Given the description of an element on the screen output the (x, y) to click on. 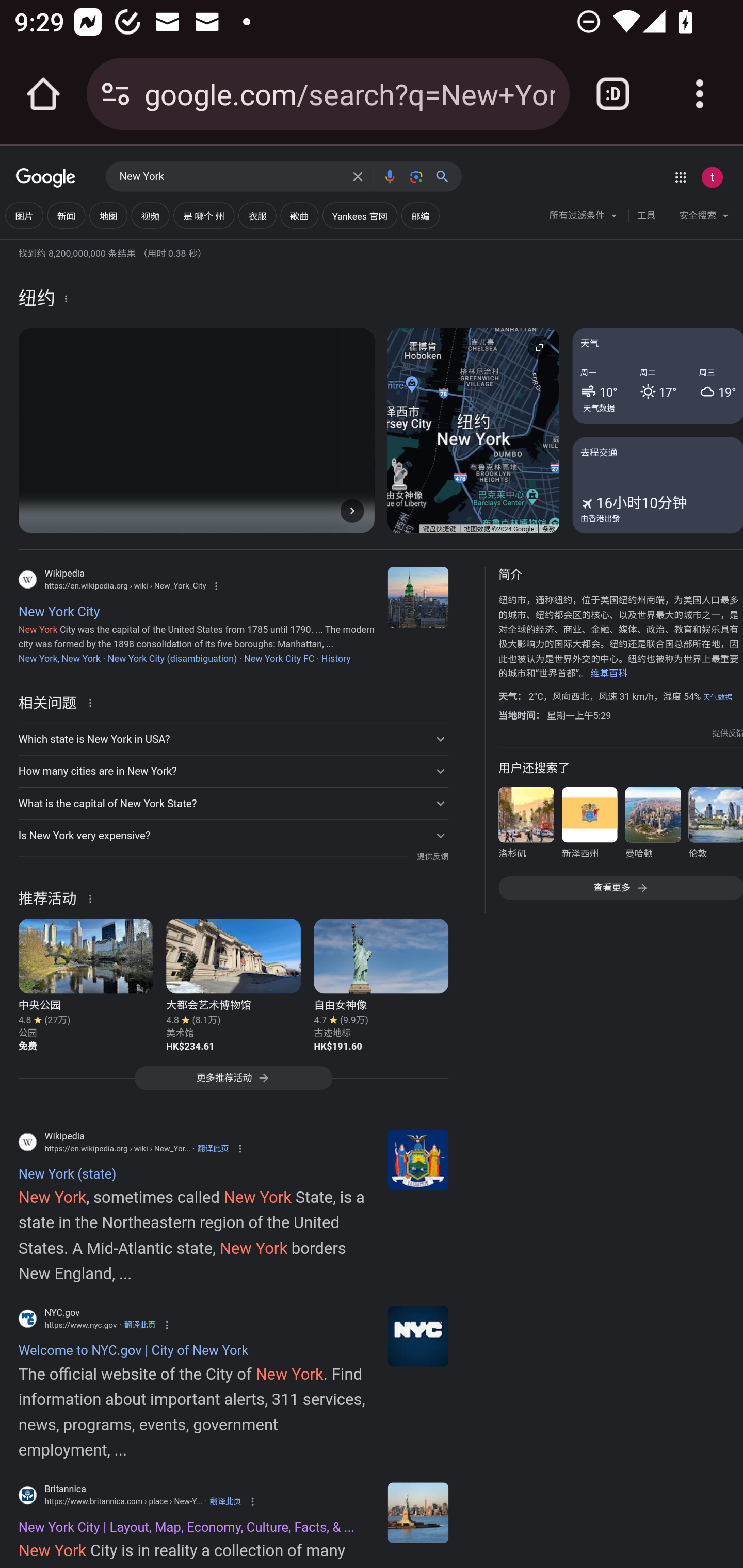
Open the home page (43, 93)
Connection is secure (115, 93)
Switch or close tabs (612, 93)
Customize and control Google Chrome (699, 93)
清除 (357, 176)
按语音搜索 (389, 176)
按图搜索 (415, 176)
搜索 (446, 176)
Google 应用 (680, 176)
Google 账号： test appium (testappium002@gmail.com) (712, 176)
Google (45, 178)
New York (229, 177)
图片 (24, 215)
新闻 (65, 215)
地图 (107, 215)
视频 (149, 215)
添加“是 哪个 州” 是 哪个 州 (203, 215)
添加“衣服” 衣服 (256, 215)
添加“歌曲” 歌曲 (299, 215)
添加“Yankees 官网” Yankees 官网 (359, 215)
添加“邮编” 邮编 (420, 215)
所有过滤条件 (583, 217)
工具 (646, 215)
安全搜索 (703, 217)
更多选项 (65, 298)
天气 周一 高温 10 度 周二 高温 17 度 周三 高温 19 度 (657, 375)
展开地图 (539, 346)
天气数据 (599, 407)
去程交通 16小时10分钟 乘坐飞机 由香港出發 (657, 484)
下一张图片 (352, 510)
New_York_City (417, 597)
New York, New York (58, 658)
New York City (disambiguation) (171, 658)
New York City FC (278, 658)
History (335, 658)
维基百科 (608, 672)
天气数据 (717, 697)
关于这条结果的详细信息 (93, 701)
Which state is New York in USA? (232, 738)
提供反馈 (727, 733)
How many cities are in New York? (232, 770)
洛杉矶 (526, 826)
新泽西州 (588, 826)
曼哈顿 (652, 826)
伦敦 (715, 826)
What is the capital of New York State? (232, 803)
Is New York very expensive? (232, 835)
提供反馈 (432, 856)
查看更多 查看更多 查看更多 (620, 887)
关于这条结果的详细信息 (93, 897)
更多推荐活动 (232, 1082)
New_York_(state) (417, 1159)
翻译此页 (212, 1148)
www.nyc (417, 1336)
翻译此页 (140, 1324)
New-York-City (417, 1511)
翻译此页 (225, 1501)
